Given the description of an element on the screen output the (x, y) to click on. 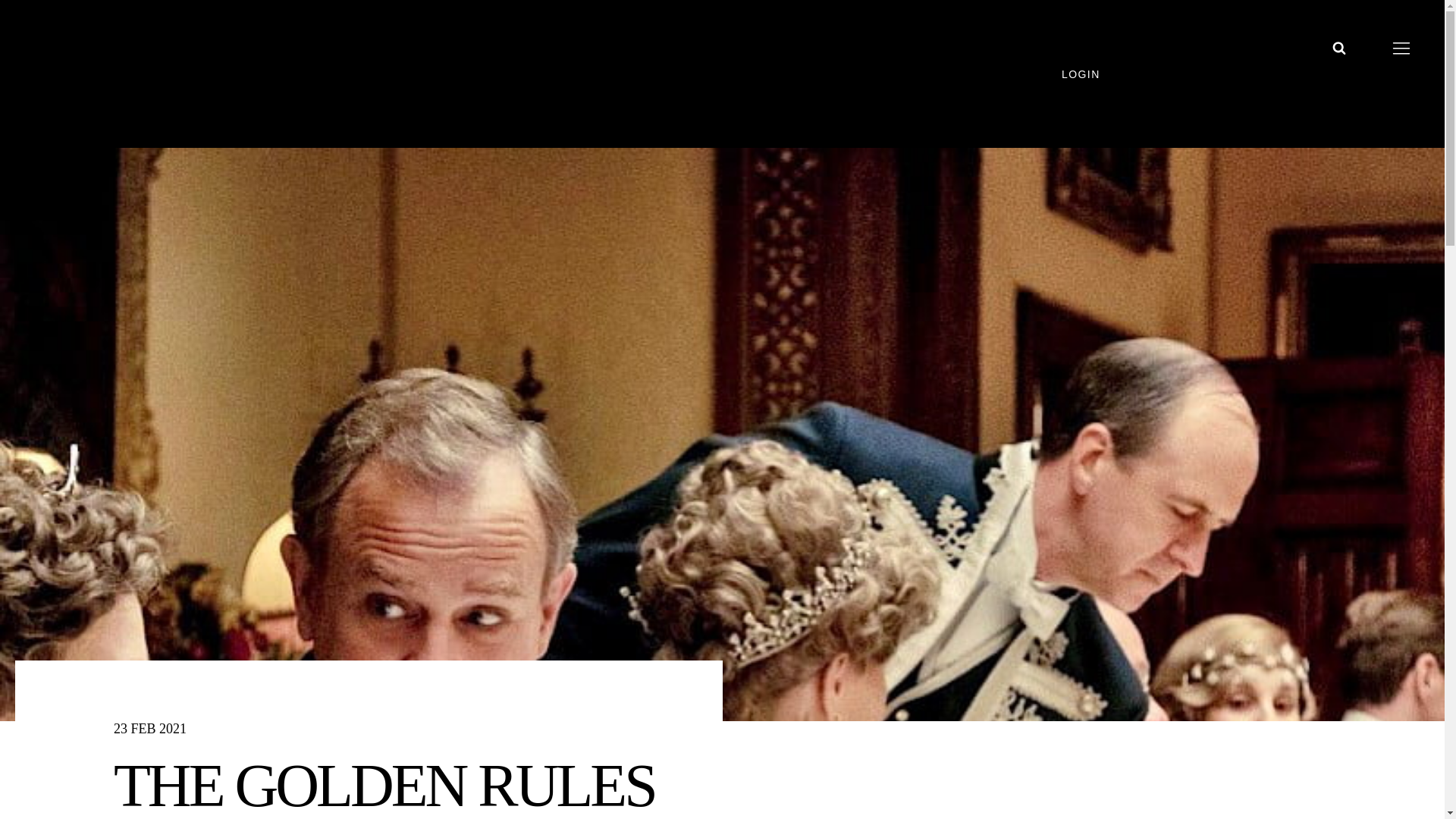
LOGIN (1099, 73)
